Given the description of an element on the screen output the (x, y) to click on. 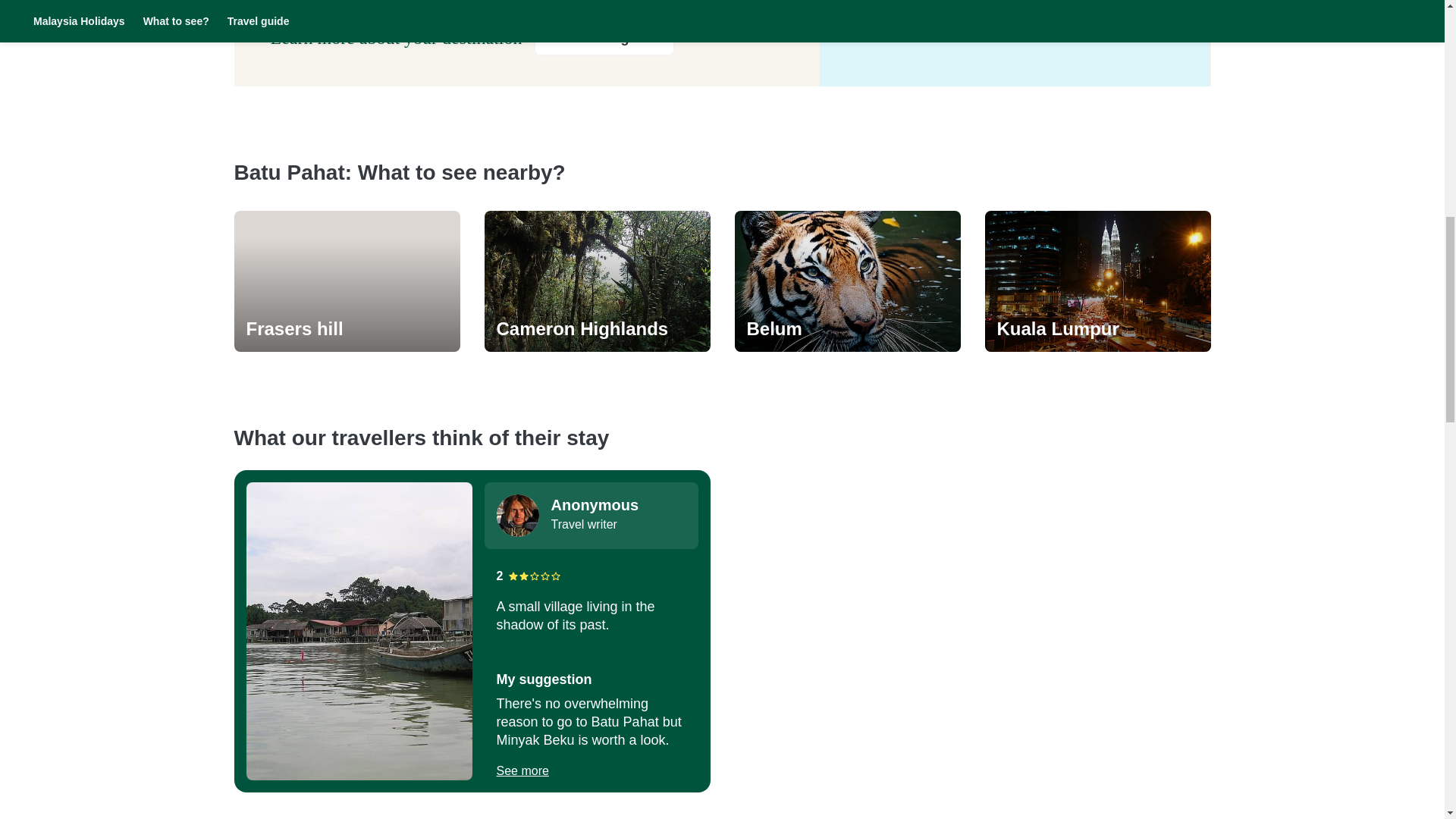
Frasers hill (346, 328)
See travel guide (604, 37)
Cameron Highlands (596, 328)
Kuala Lumpur (1096, 328)
See more (522, 771)
Belum (846, 328)
